Given the description of an element on the screen output the (x, y) to click on. 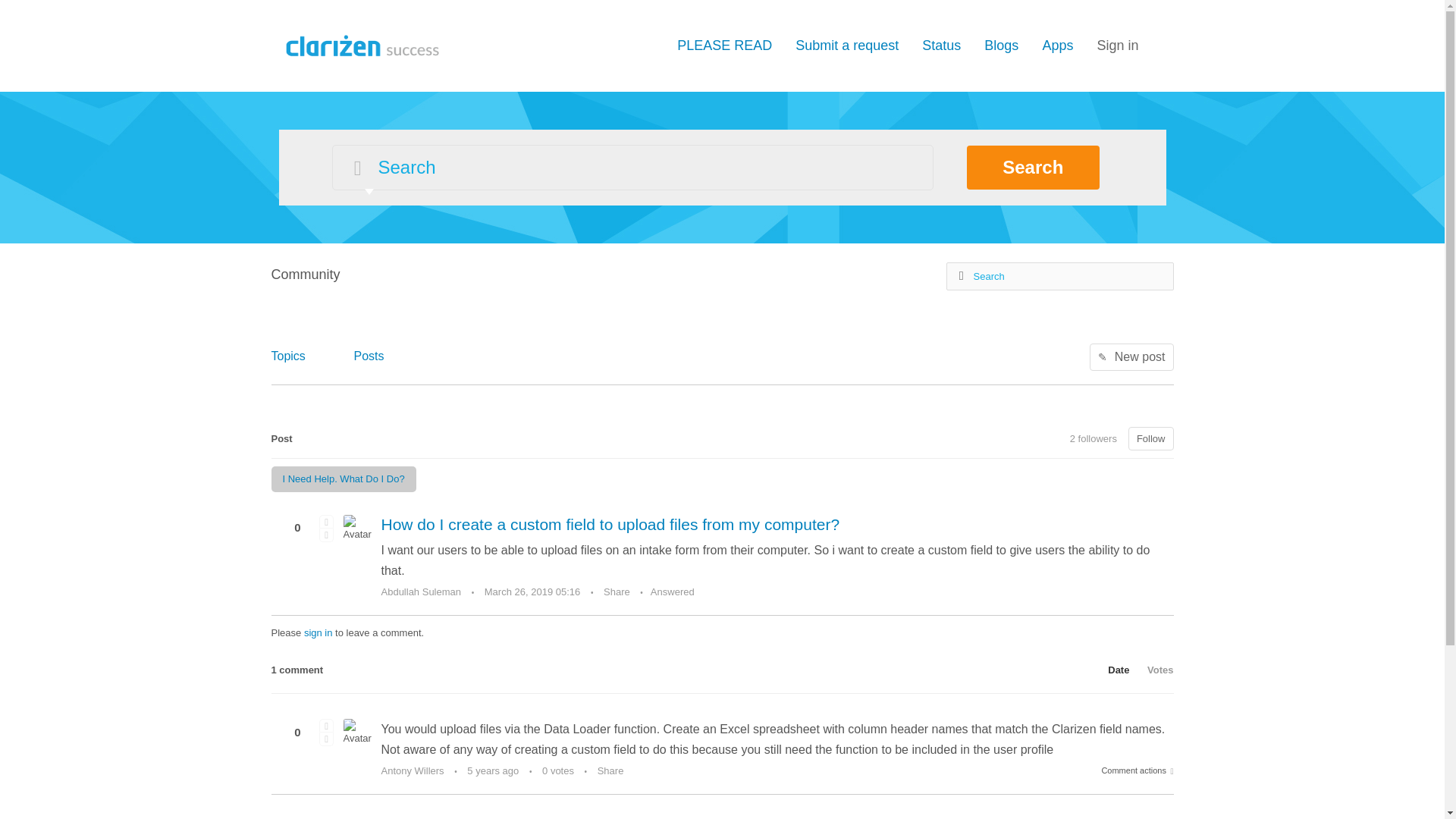
Posts (368, 354)
Home (360, 44)
Submit a request (846, 46)
Follow (1150, 437)
No (325, 739)
Sign in (1117, 46)
sign in (318, 632)
Blogs (1000, 46)
Yes (325, 725)
No (325, 534)
